Given the description of an element on the screen output the (x, y) to click on. 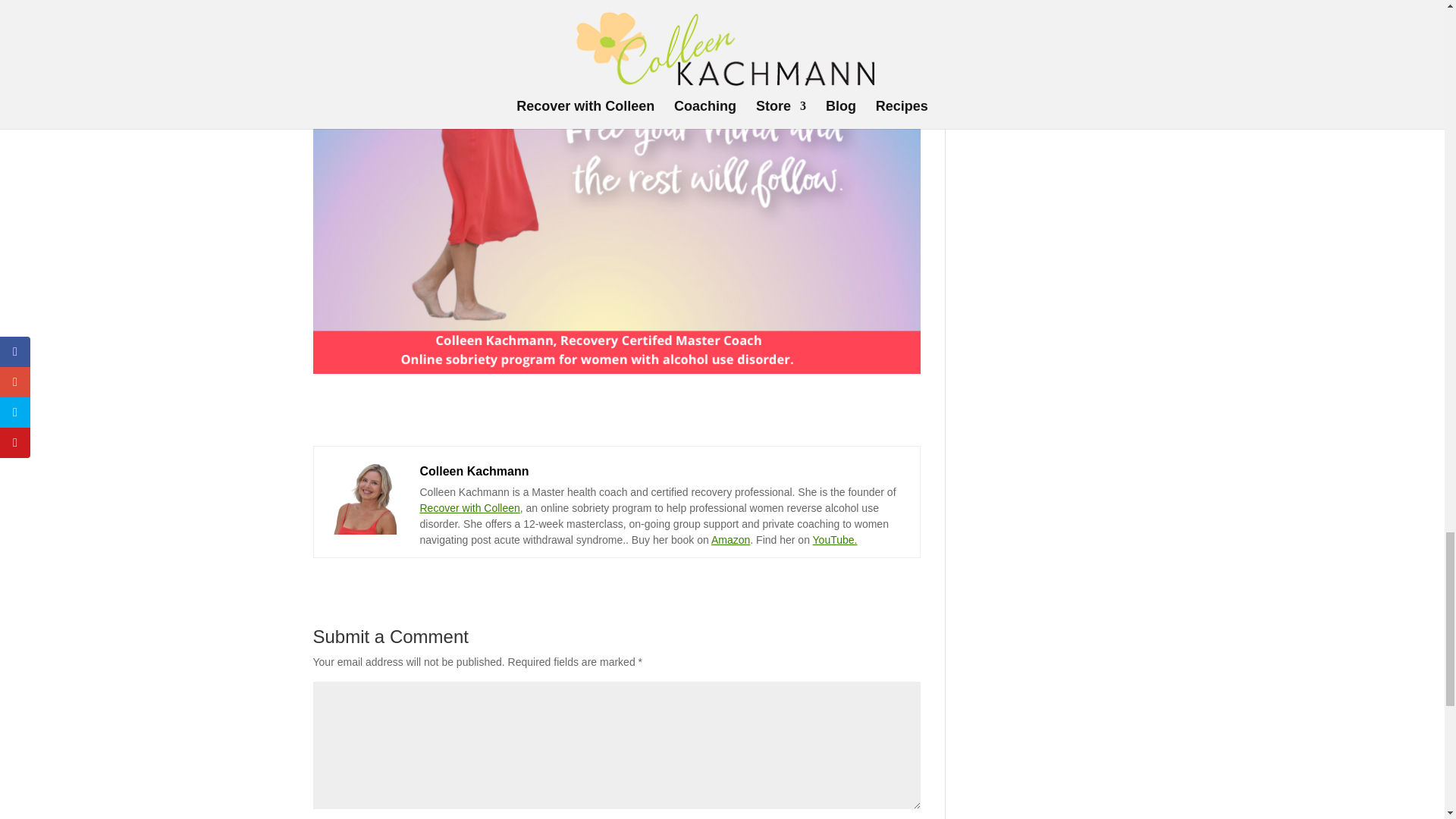
Amazon (730, 539)
YouTube. (834, 539)
Colleen Kachmann (474, 470)
Recover with Colleen (469, 508)
